Given the description of an element on the screen output the (x, y) to click on. 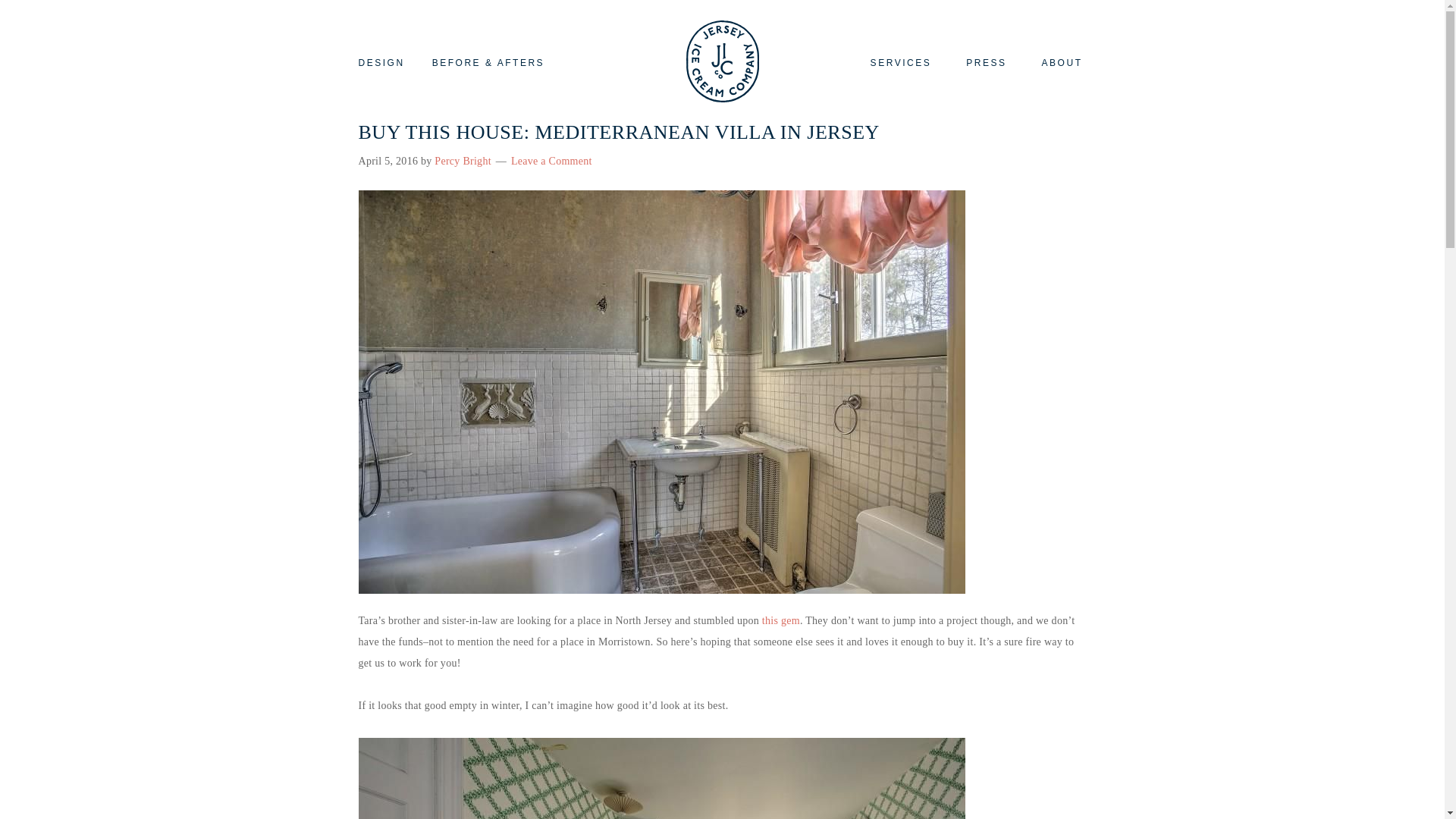
Leave a Comment (551, 161)
SERVICES (900, 62)
Percy Bright (462, 161)
ABOUT (1055, 62)
PRESS (986, 62)
DESIGN (387, 62)
this gem (780, 620)
